Given the description of an element on the screen output the (x, y) to click on. 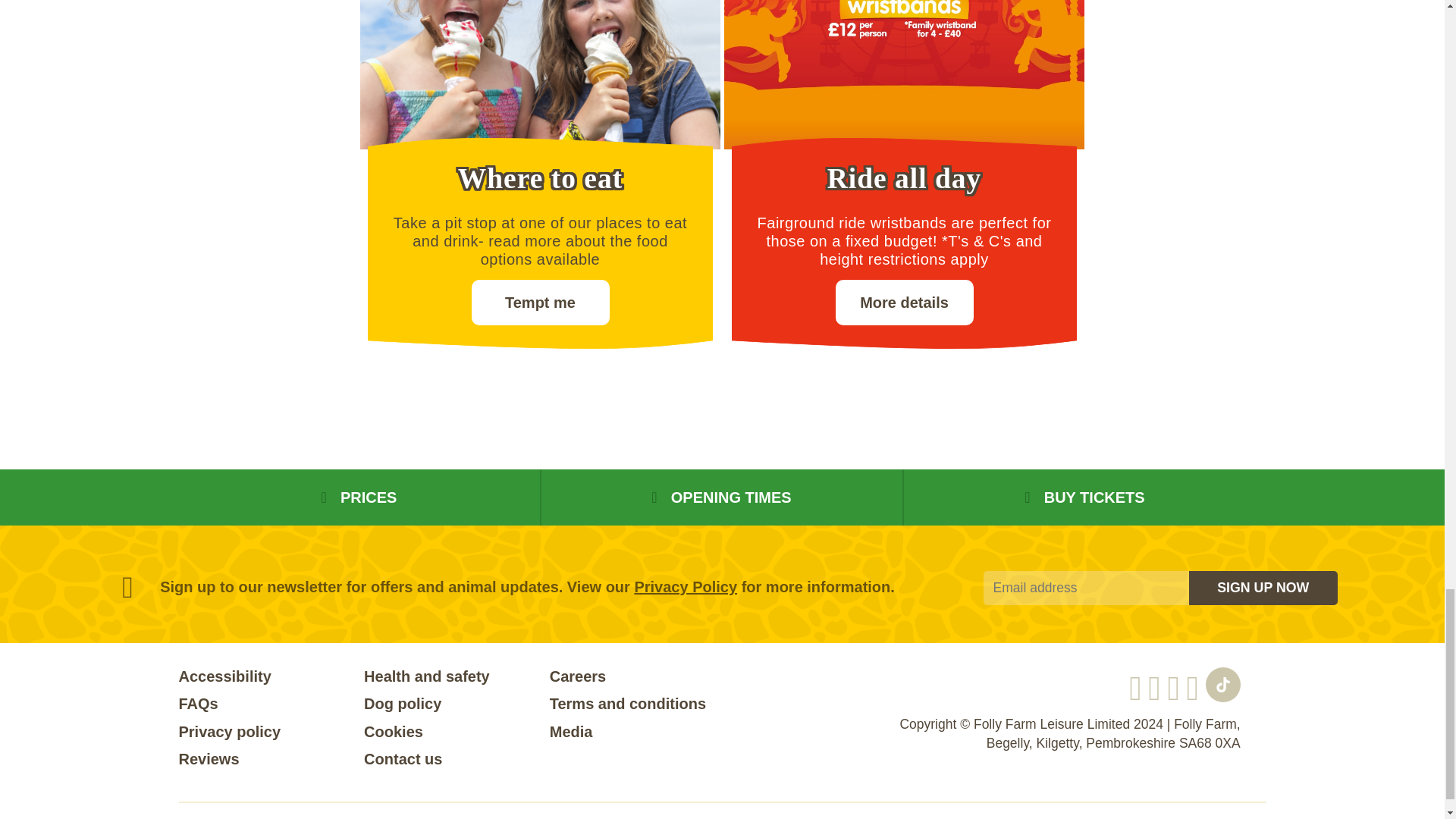
Sign up Now (1263, 587)
